Given the description of an element on the screen output the (x, y) to click on. 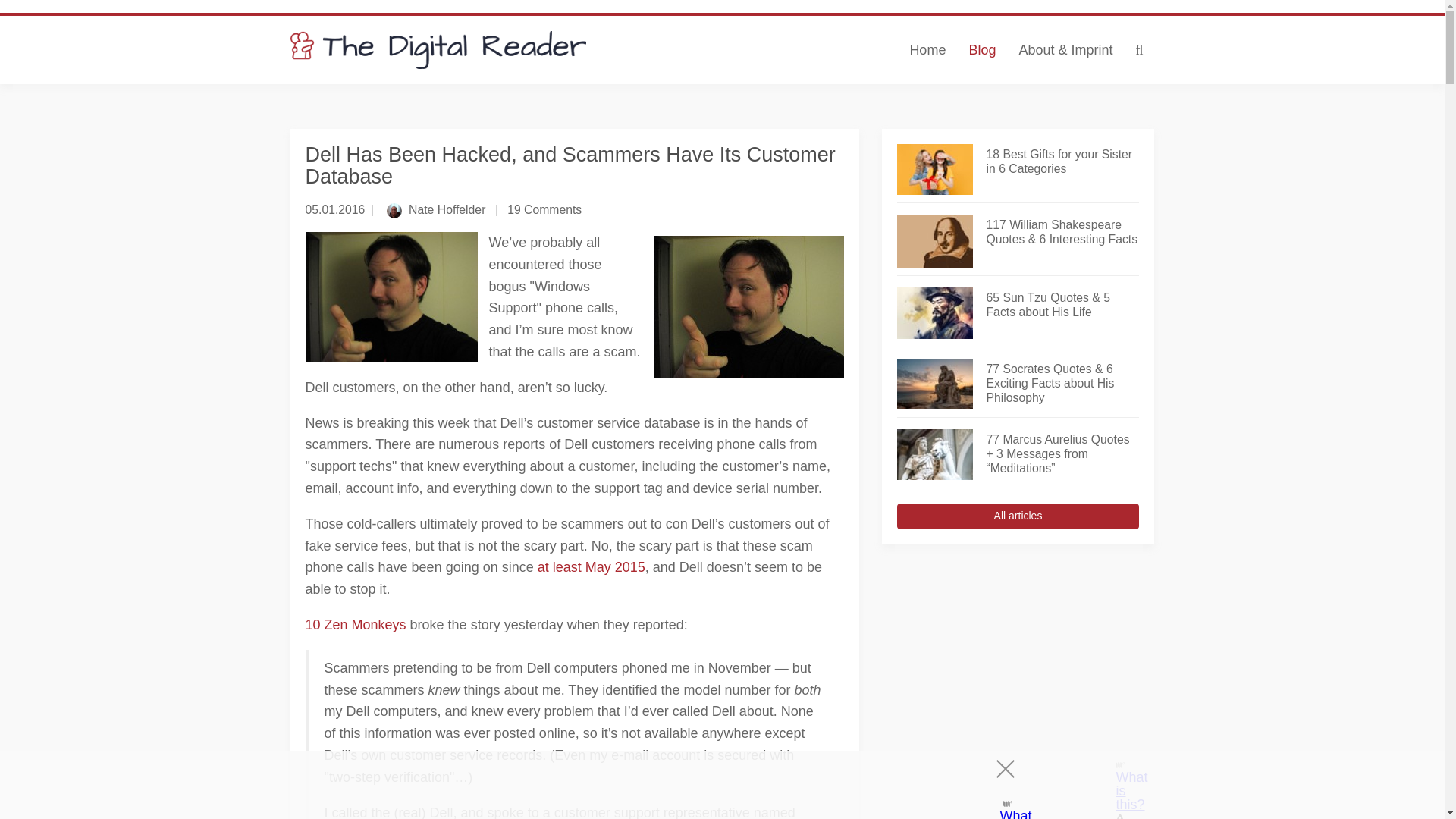
Home (927, 49)
3rd party ad content (708, 785)
Nate Hoffelder (446, 209)
3rd party ad content (1017, 661)
19 Comments (543, 209)
The Digital Reader (437, 49)
10 Zen Monkeys (355, 624)
Blog (981, 49)
at least May 2015 (591, 566)
